Given the description of an element on the screen output the (x, y) to click on. 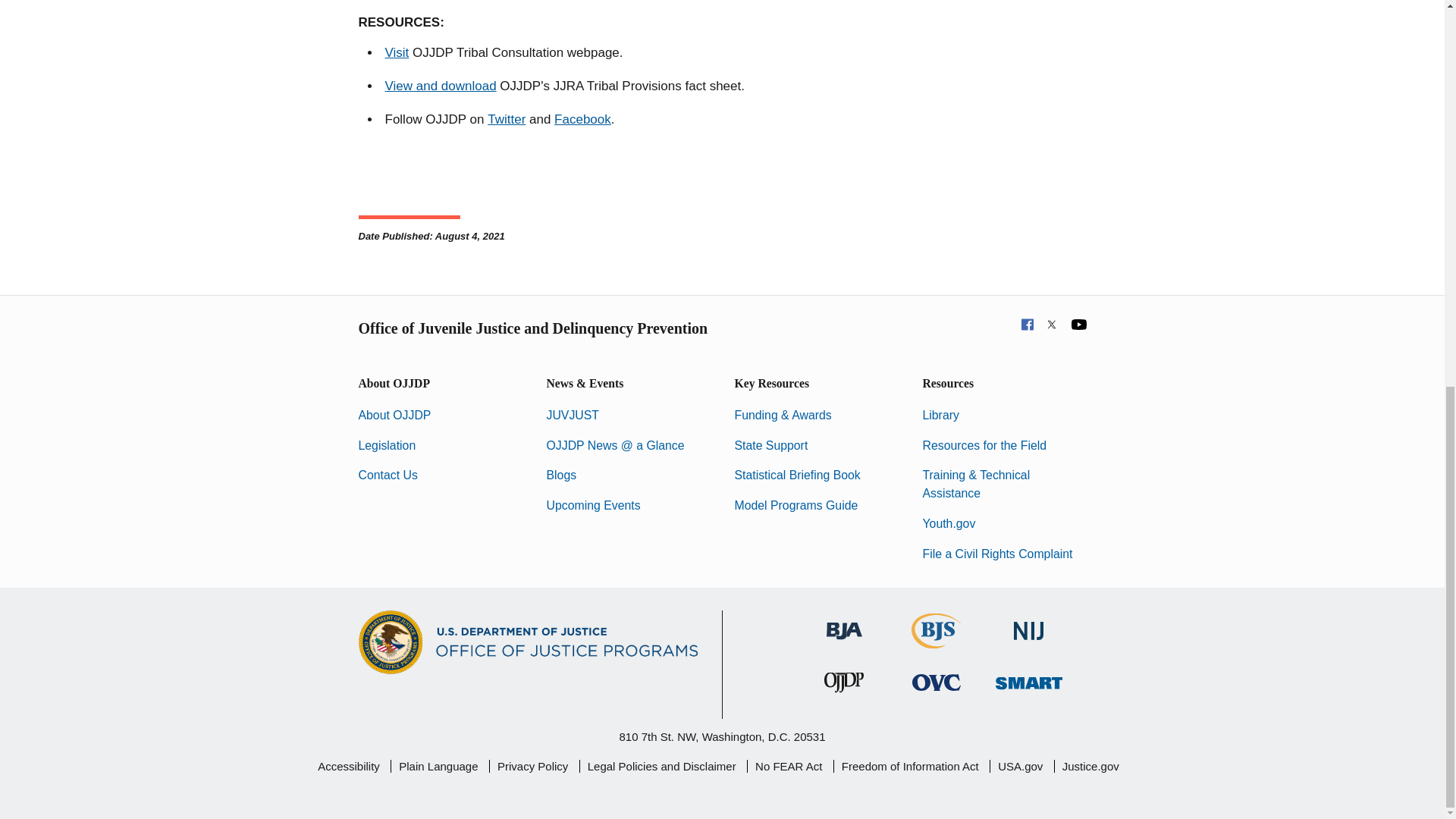
Twitter (506, 119)
Facebook (582, 119)
View and download  (440, 86)
View and download (440, 86)
Facebook (582, 119)
Twitter (506, 119)
